Given the description of an element on the screen output the (x, y) to click on. 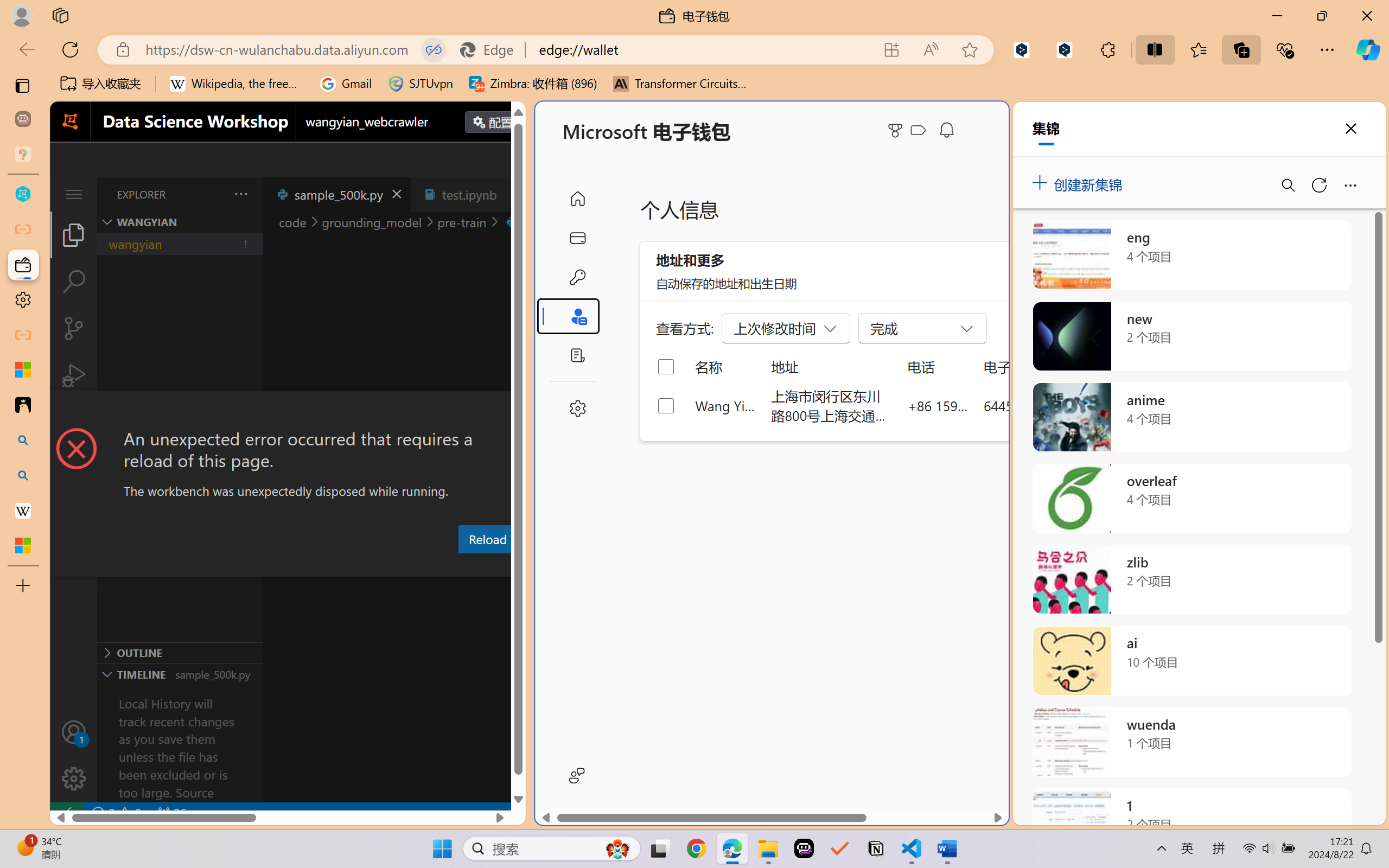
SJTUvpn (419, 83)
Search (Ctrl+Shift+F) (73, 281)
Class: actions-container (287, 410)
Extensions (Ctrl+Shift+X) (73, 422)
remote (66, 812)
Edge (492, 49)
Debug Console (Ctrl+Shift+Y) (463, 565)
Tab actions (512, 194)
test.ipynb (468, 194)
644553698@qq.com (1043, 405)
